Given the description of an element on the screen output the (x, y) to click on. 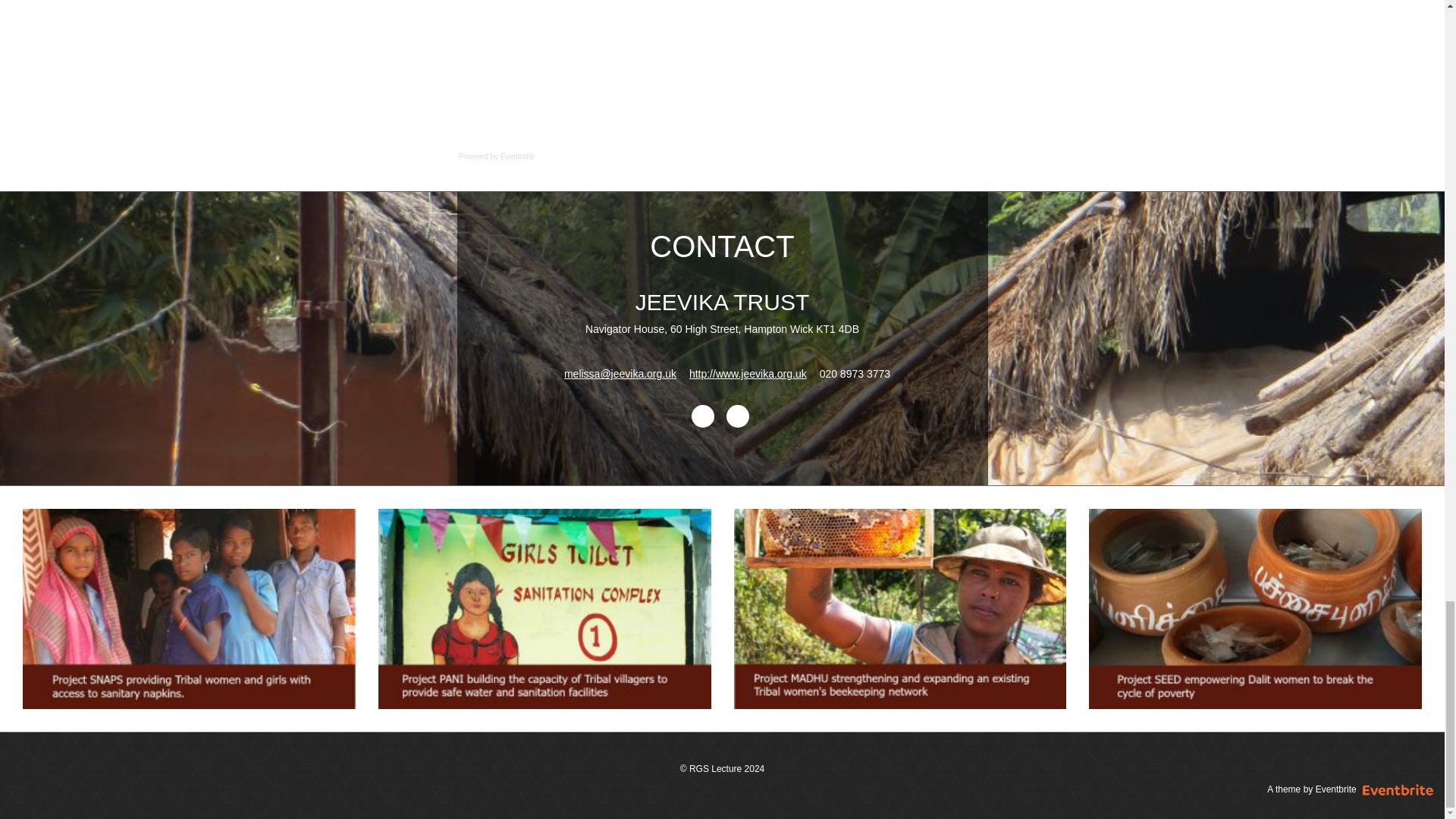
A theme by Eventbrite (1326, 789)
A theme by Eventbrite (1326, 789)
Twitter (737, 415)
Powered by Eventbrite (496, 156)
Facebook (702, 415)
